Given the description of an element on the screen output the (x, y) to click on. 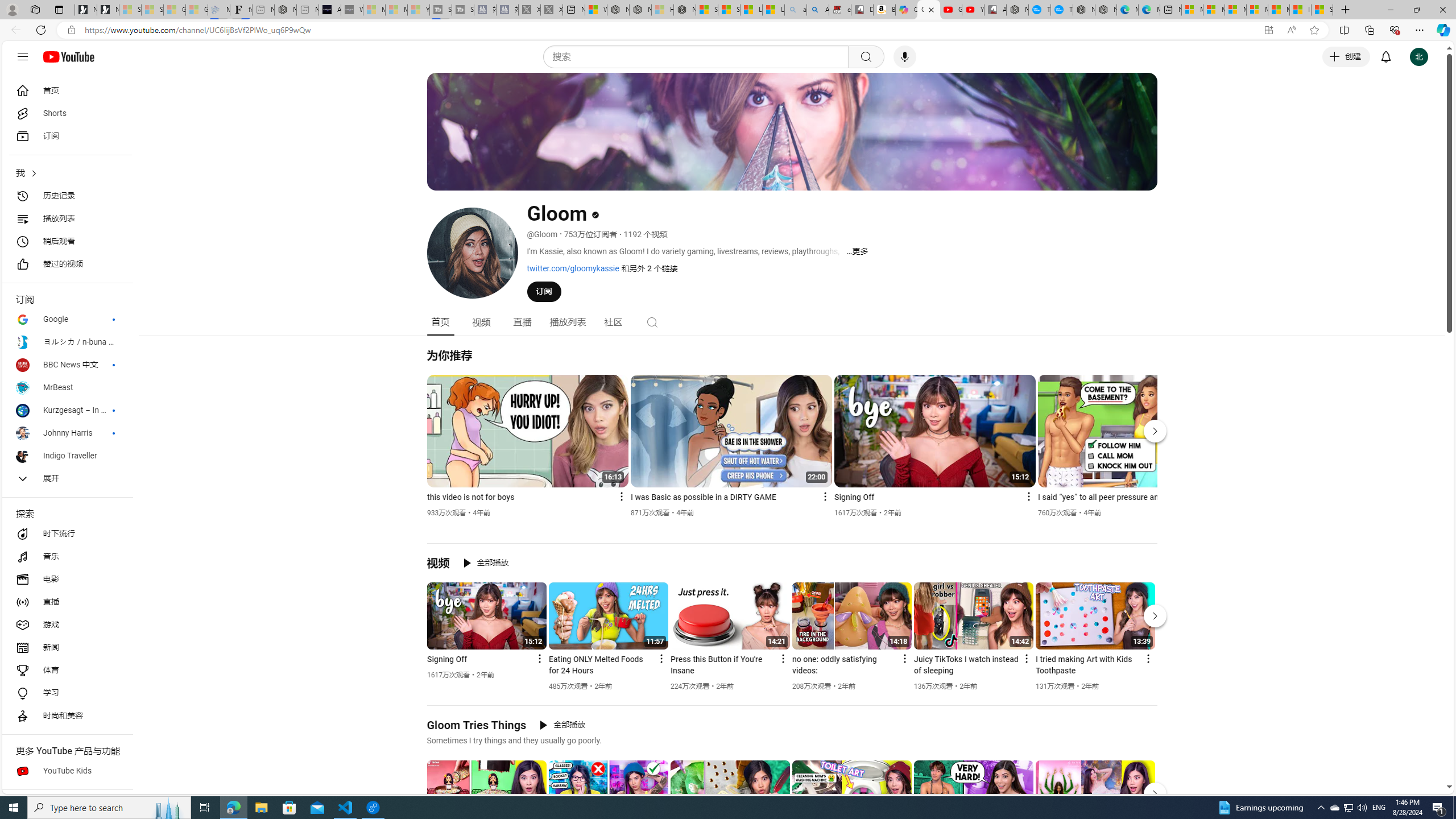
MrBeast (66, 387)
